Given the description of an element on the screen output the (x, y) to click on. 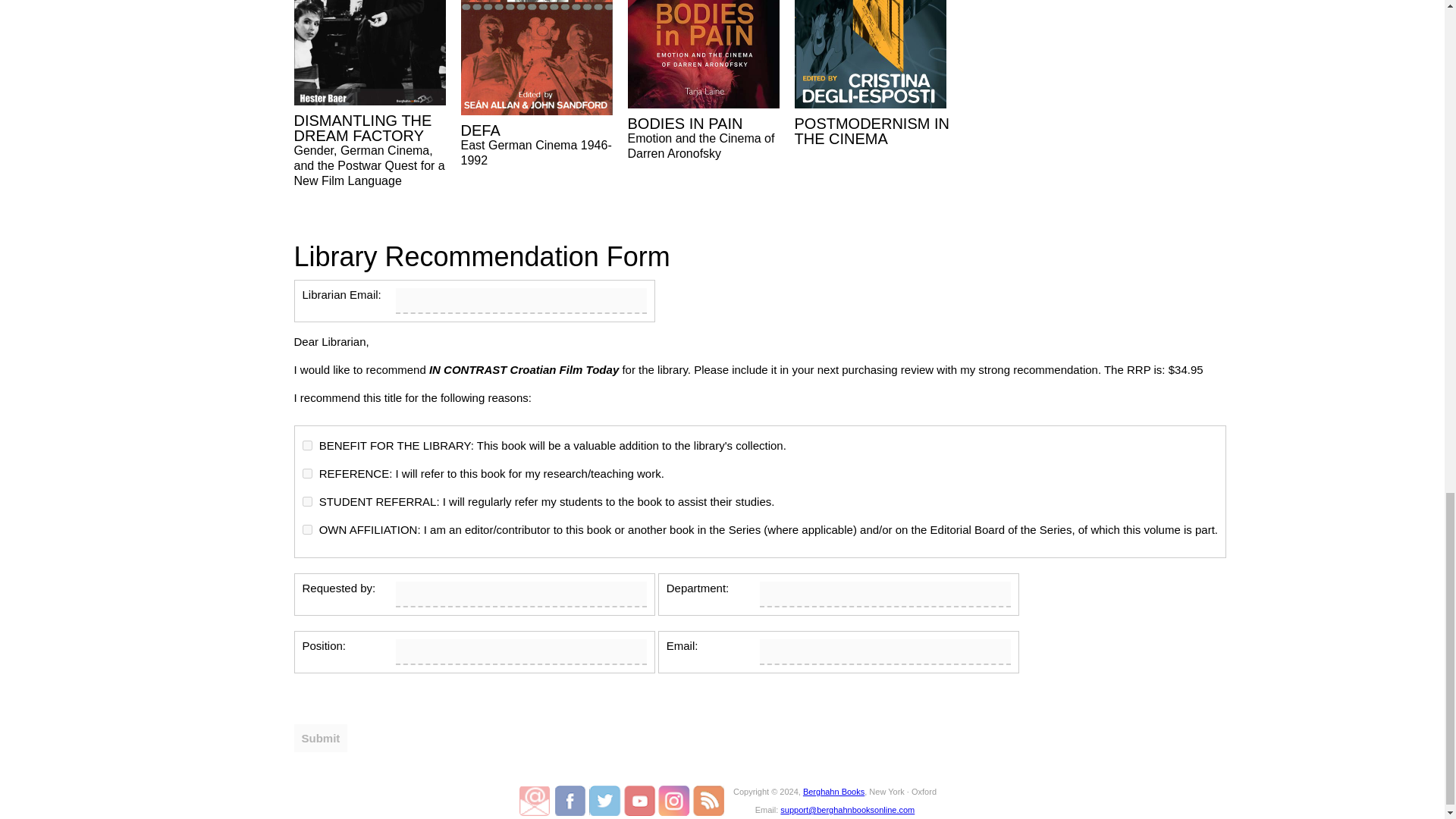
on (306, 529)
Submit (320, 737)
Berghahn Books on Facebook (571, 800)
on (306, 473)
on (306, 501)
on (306, 445)
Berghahn Books on Twitter (606, 800)
